Given the description of an element on the screen output the (x, y) to click on. 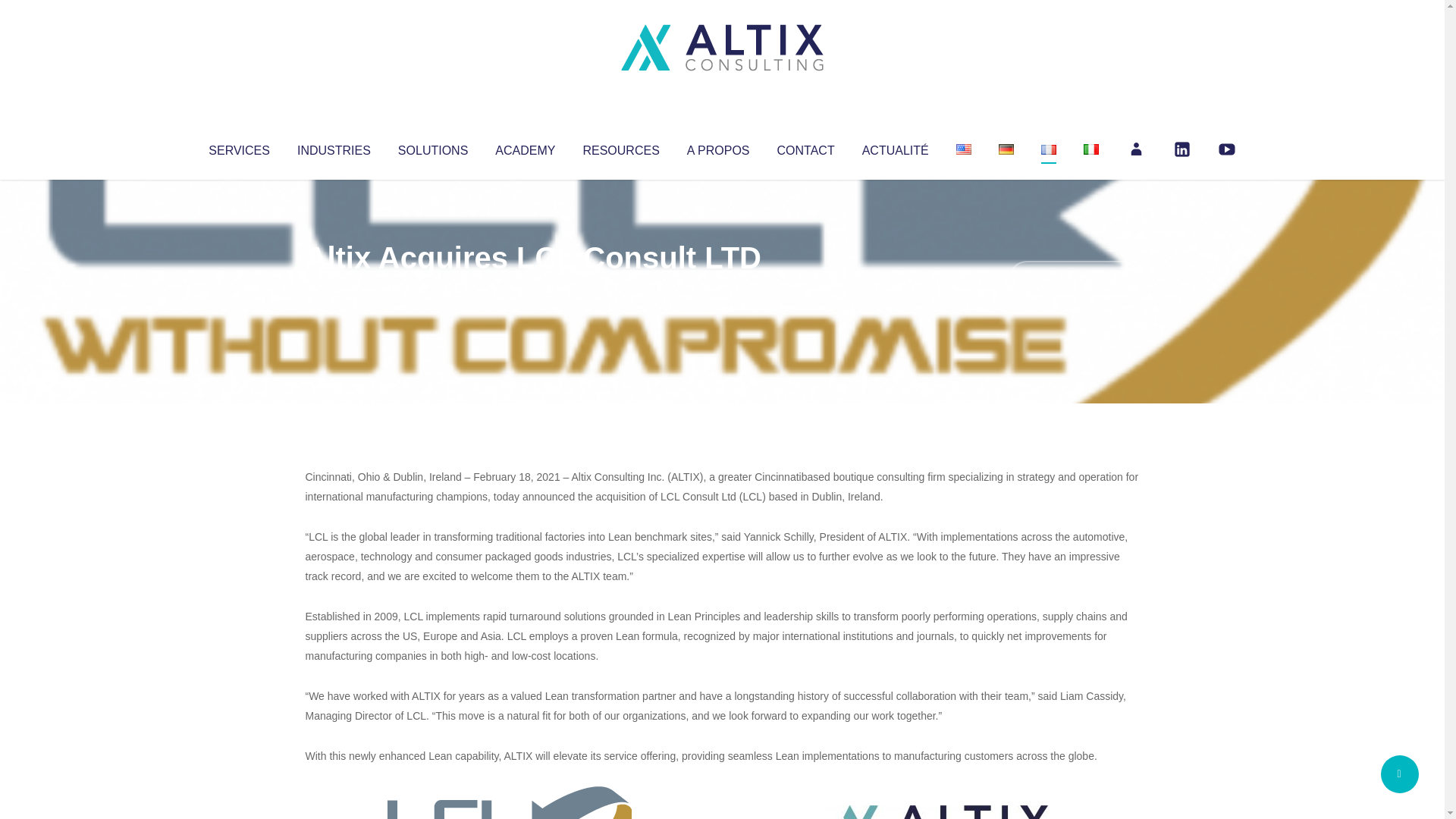
SOLUTIONS (432, 146)
ACADEMY (524, 146)
SERVICES (238, 146)
A PROPOS (718, 146)
RESOURCES (620, 146)
Altix (333, 287)
No Comments (1073, 278)
Uncategorized (530, 287)
Articles par Altix (333, 287)
INDUSTRIES (334, 146)
